Given the description of an element on the screen output the (x, y) to click on. 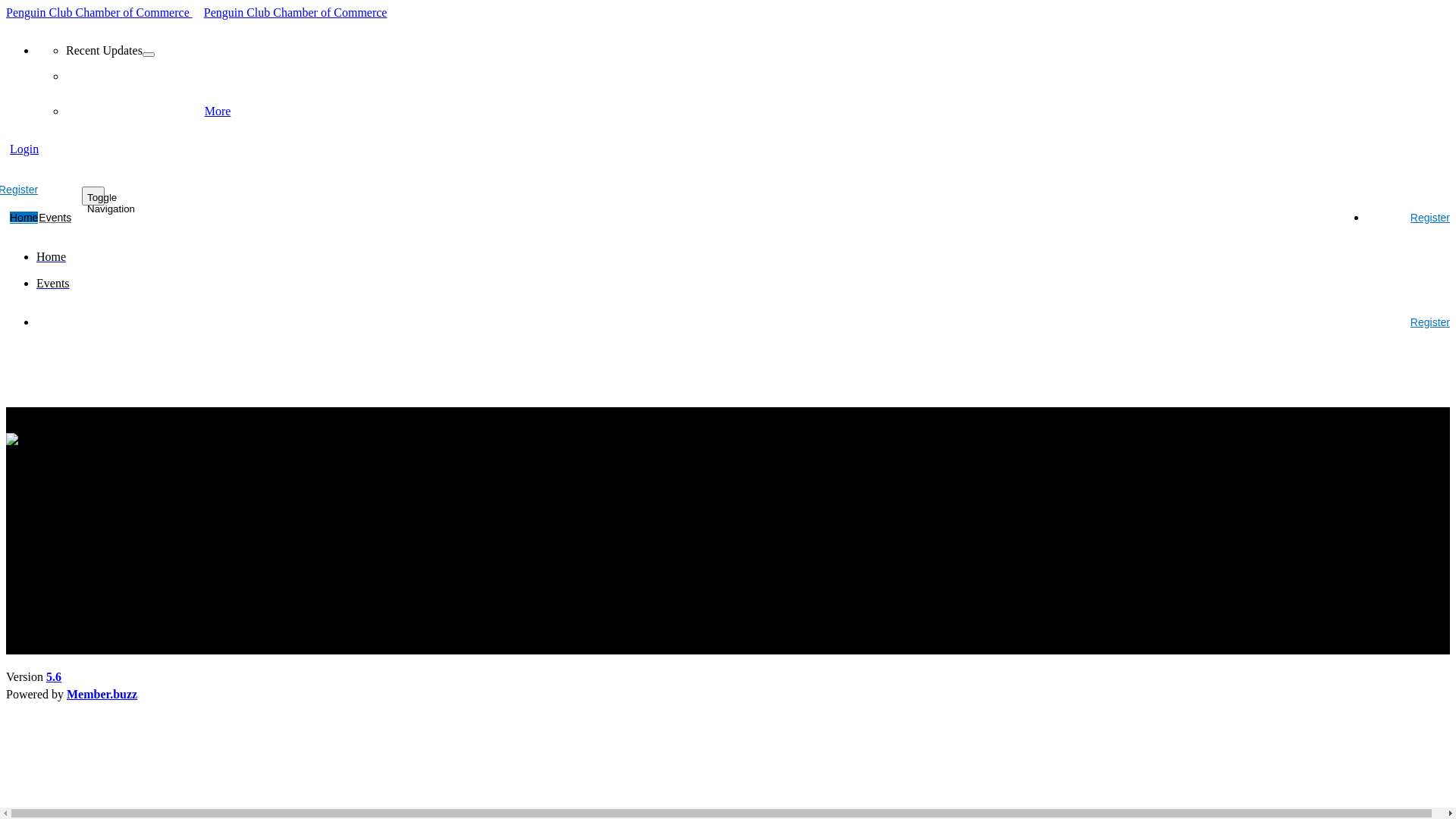
Toggle Navigation Element type: text (92, 195)
Register Element type: text (1407, 322)
Penguin Club Chamber of Commerce Element type: text (300, 10)
Events Element type: text (52, 282)
Penguin Club Chamber of Commerce Element type: text (104, 10)
Register Element type: text (1407, 216)
Login Element type: text (22, 146)
Home Element type: text (23, 217)
5.6 Element type: text (53, 676)
More Element type: text (217, 110)
Events Element type: text (54, 217)
Member.buzz Element type: text (101, 693)
Home Element type: text (50, 256)
